Given the description of an element on the screen output the (x, y) to click on. 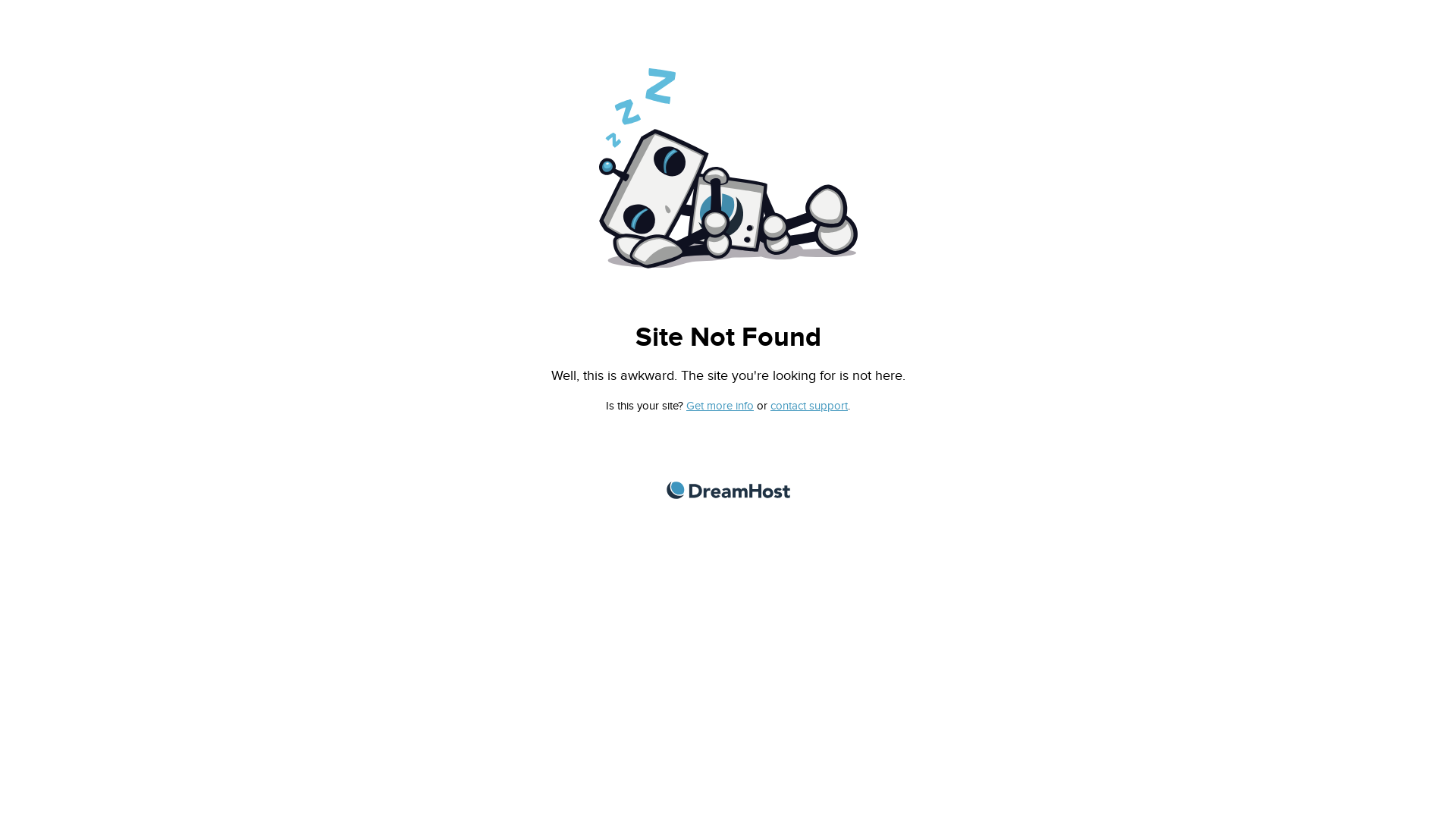
Get more info Element type: text (721, 404)
DreamHost Element type: text (727, 489)
contact support Element type: text (811, 404)
